Given the description of an element on the screen output the (x, y) to click on. 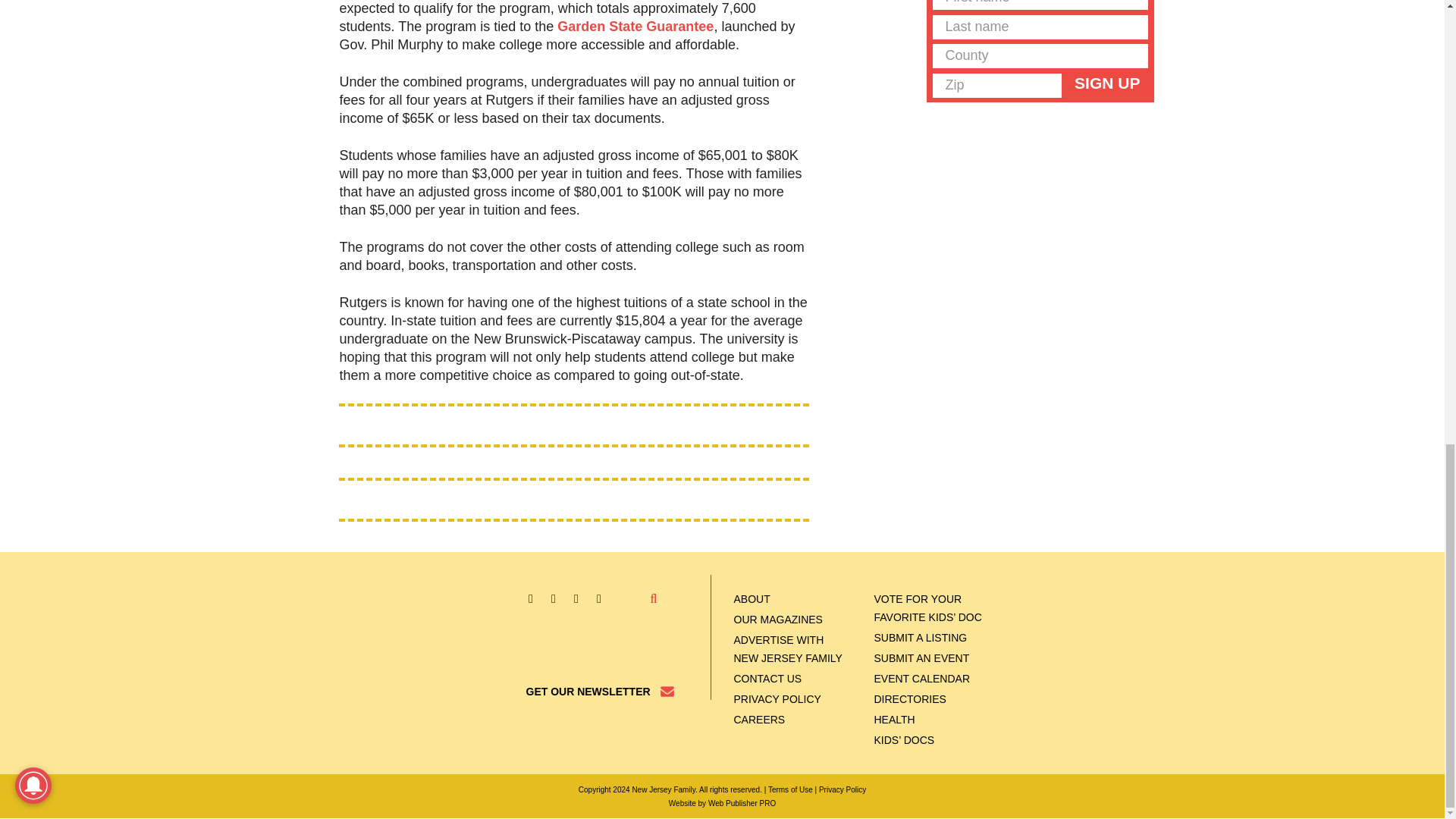
sign up (1106, 82)
